Given the description of an element on the screen output the (x, y) to click on. 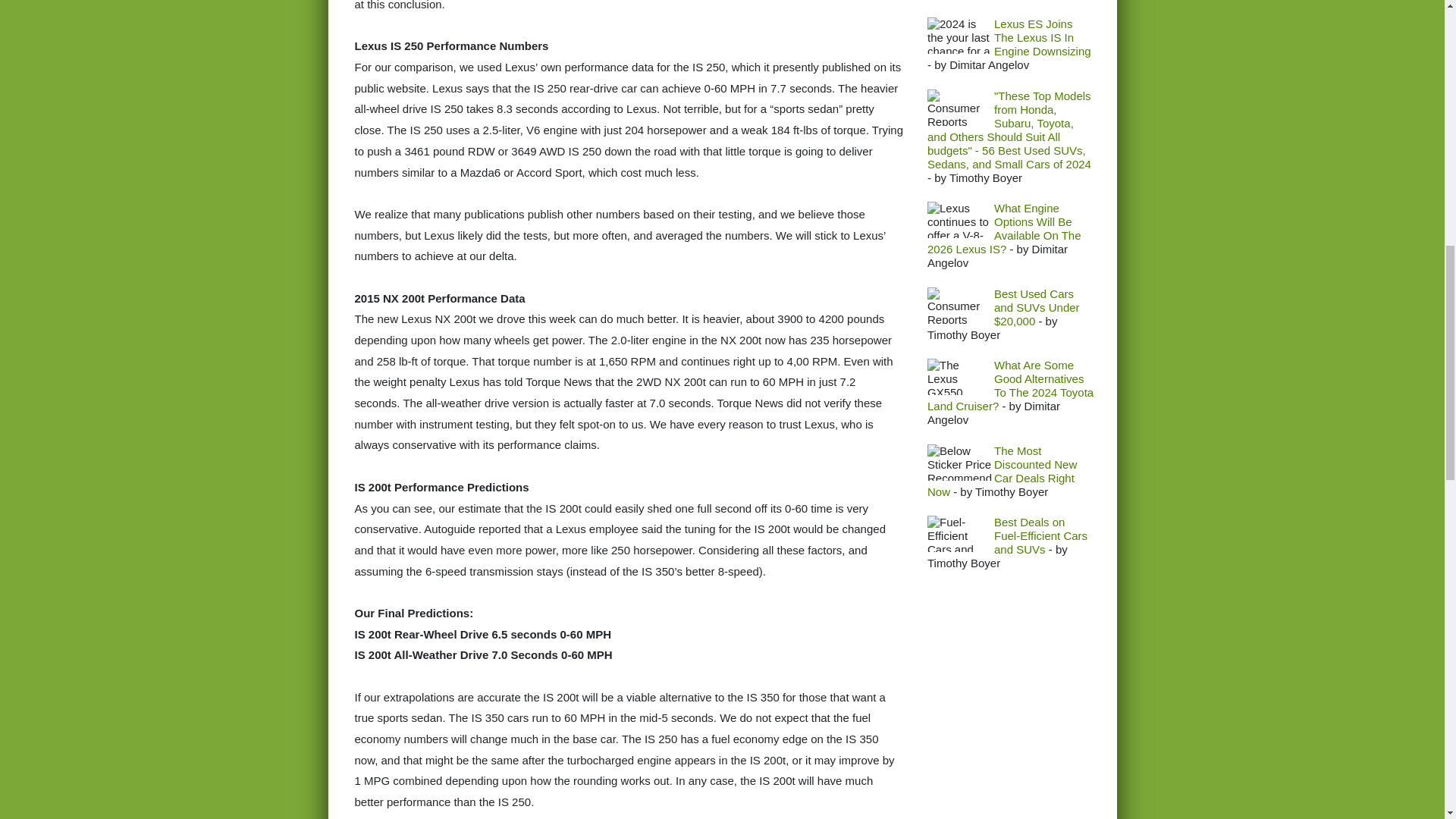
The new Lexus NX 200t we drove this week (465, 318)
